Given the description of an element on the screen output the (x, y) to click on. 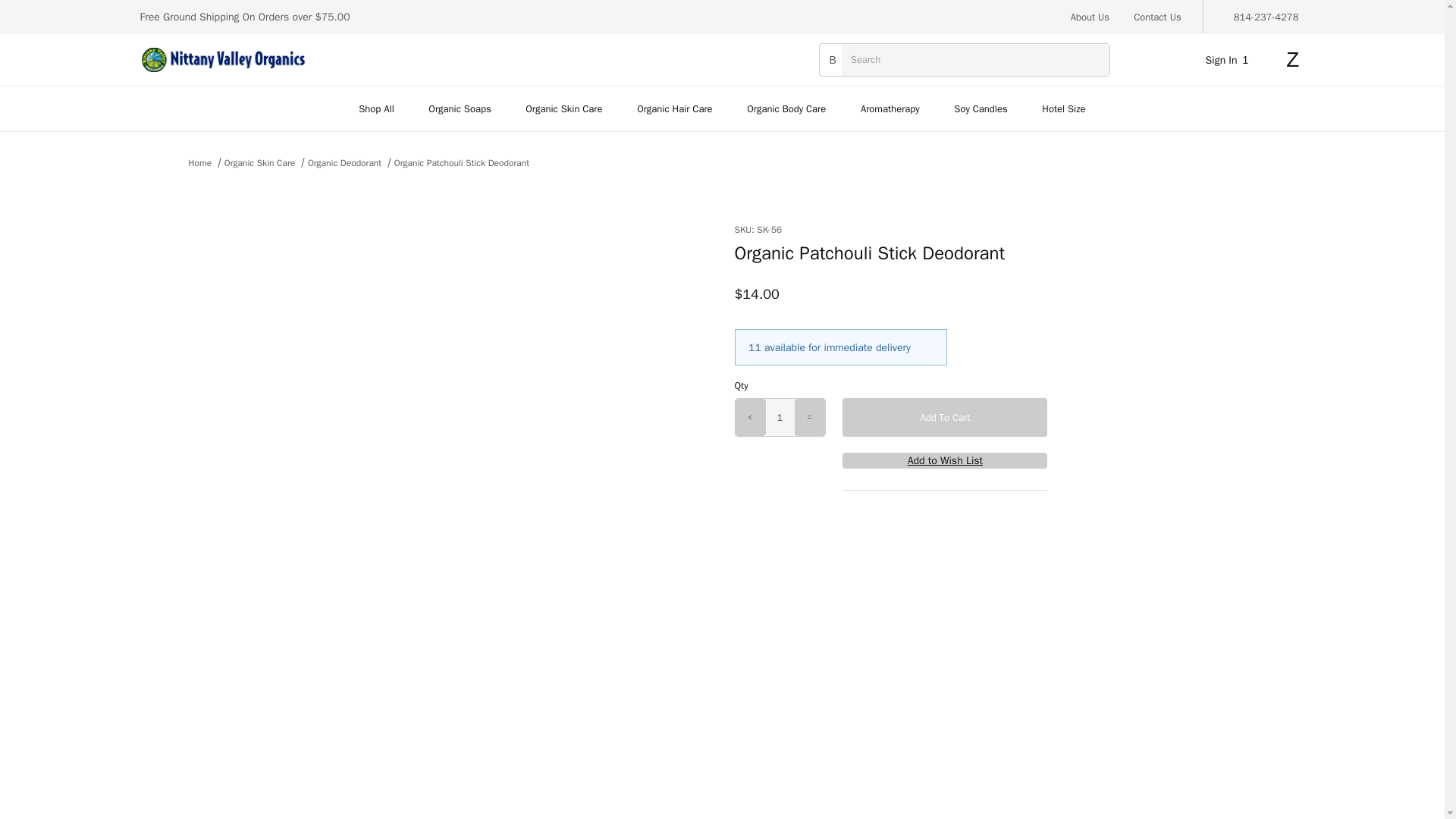
About Us (1089, 17)
Sign In (1229, 59)
Organic Skin Care (563, 108)
Contact Us (1157, 17)
NittanyValleyOrganics.com (223, 59)
Add To Cart (944, 417)
Organic Hair Care (674, 108)
Sign In (1218, 249)
Shop All (375, 108)
Organic Soaps (459, 108)
Add to Wish List (944, 460)
